Given the description of an element on the screen output the (x, y) to click on. 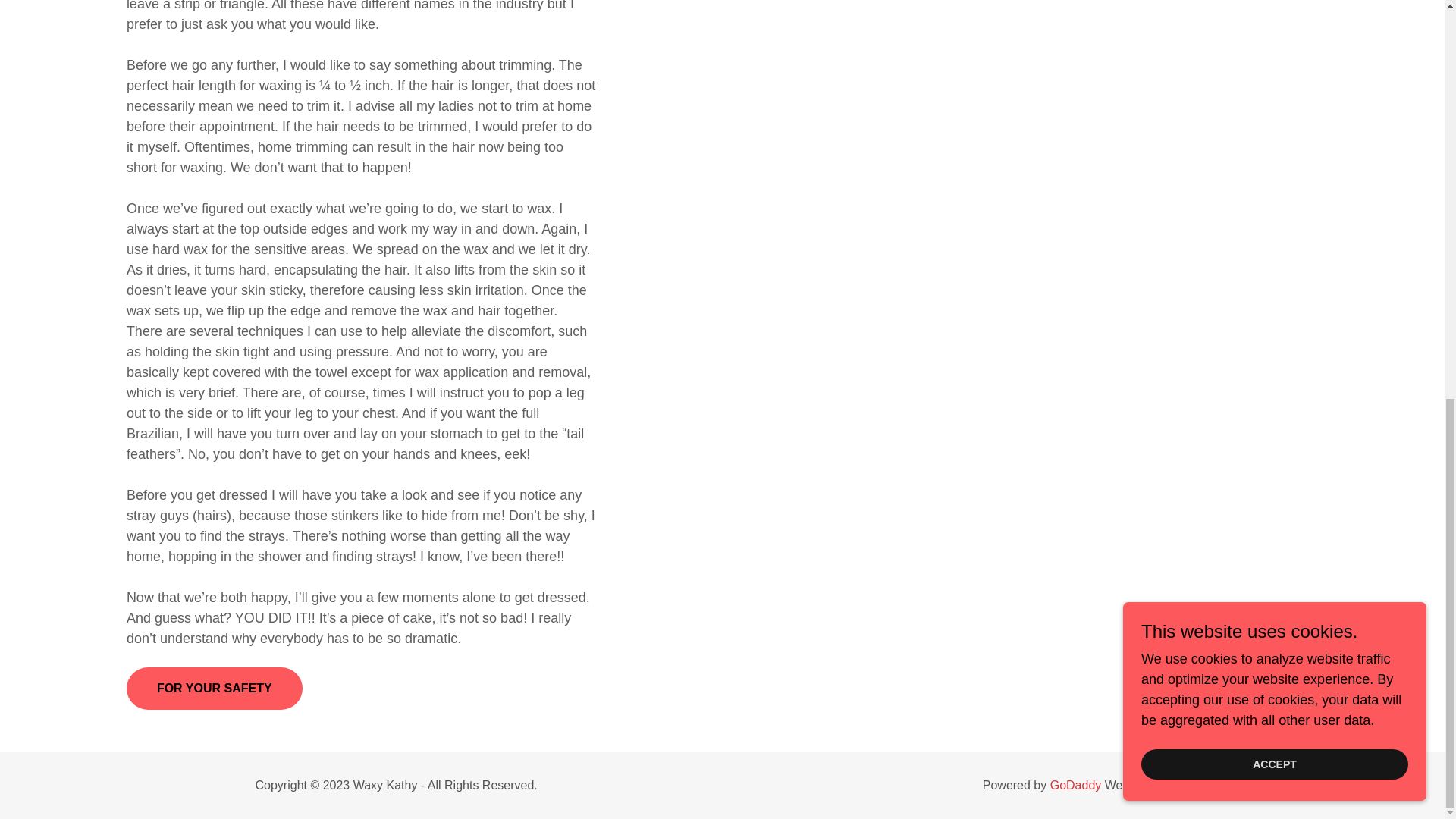
ACCEPT (1274, 1)
GoDaddy (1075, 784)
FOR YOUR SAFETY (214, 688)
